Given the description of an element on the screen output the (x, y) to click on. 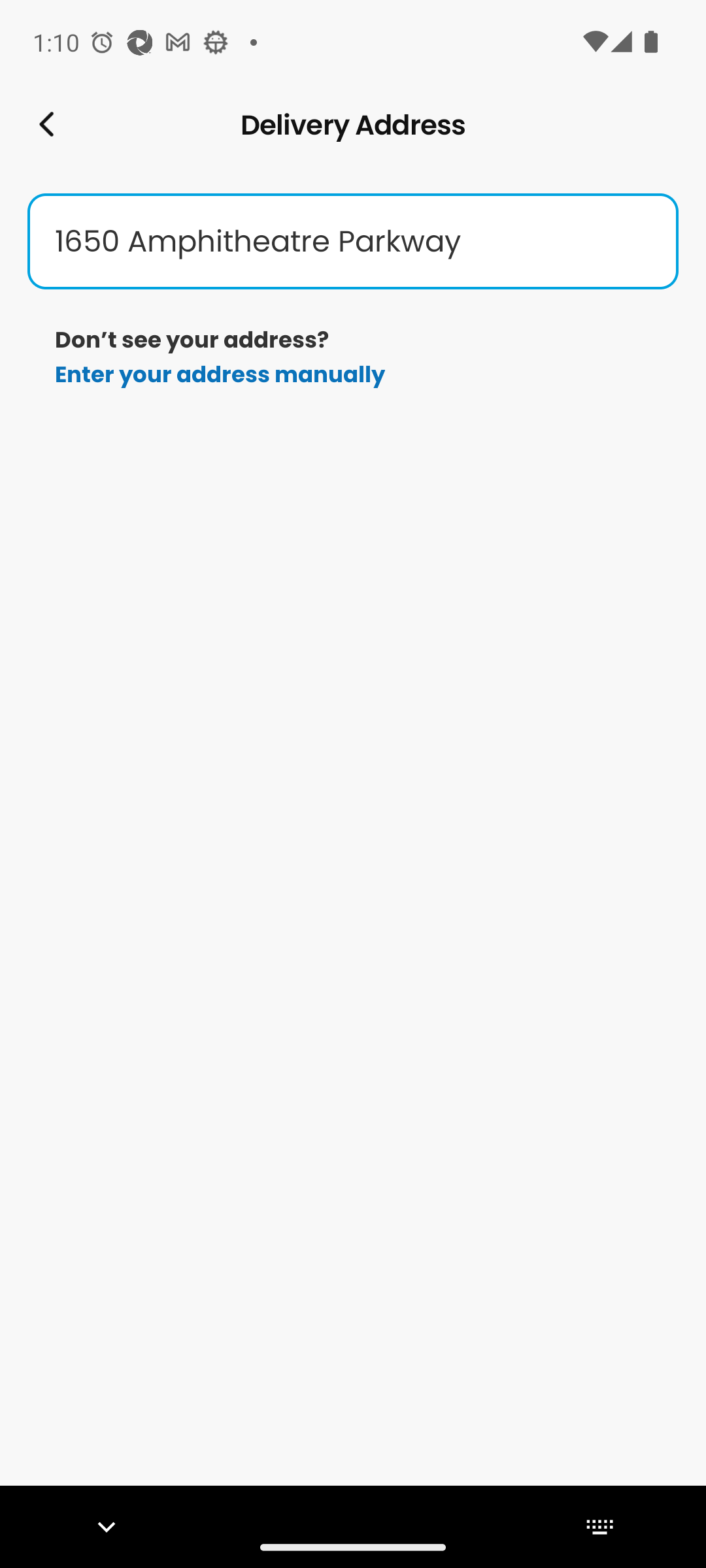
1650 Amphitheatre Parkway (352, 241)
Enter your address manually (219, 374)
